Given the description of an element on the screen output the (x, y) to click on. 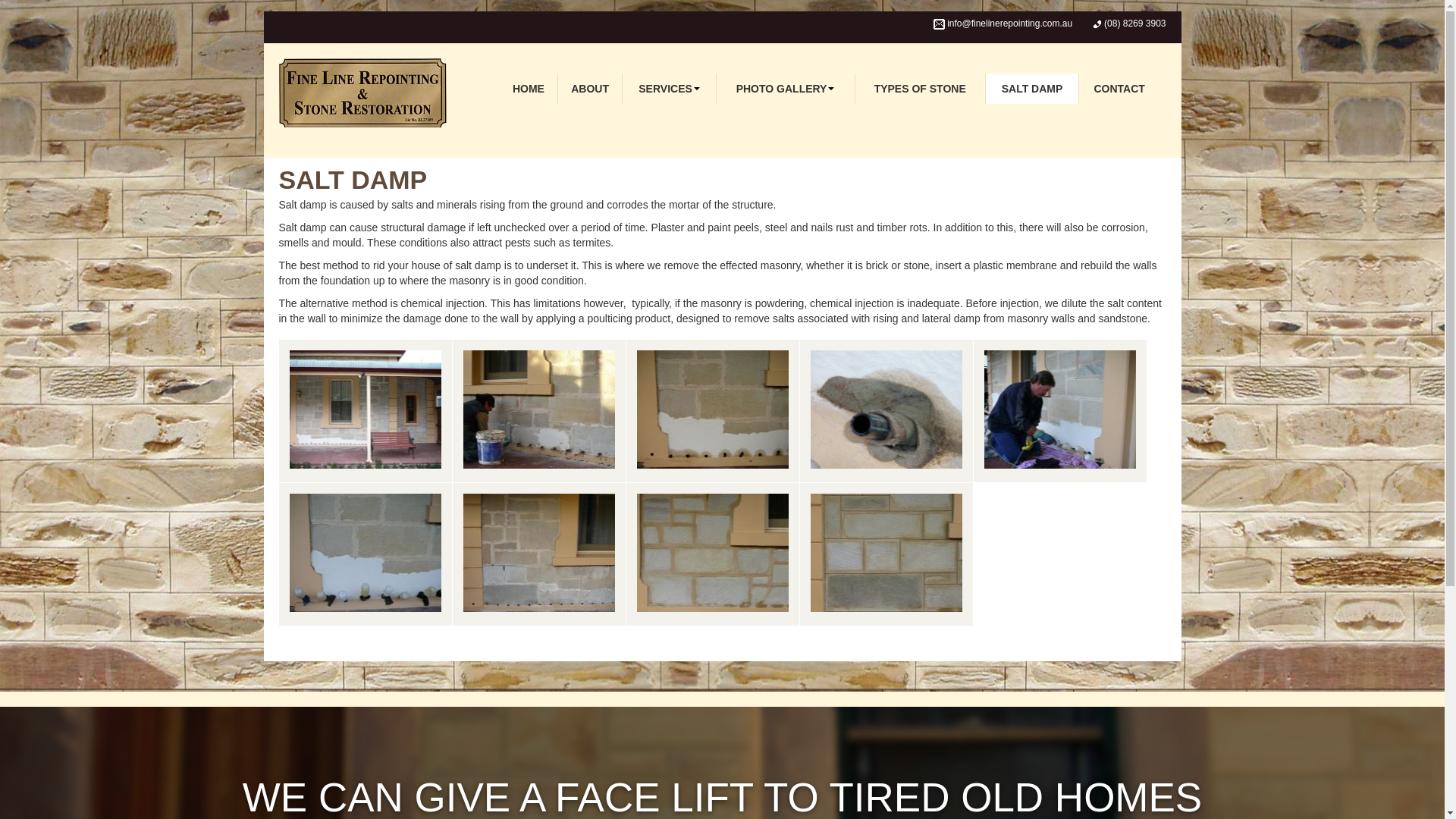

 Element type: hover (365, 410)

 Element type: hover (885, 410)
Click to enlarge image 5.jpg Element type: hover (365, 554)
info@finelinerepointing.com.au Element type: text (1009, 23)

 Element type: hover (712, 410)

 Element type: hover (365, 554)
HOME Element type: text (528, 88)
PHOTO GALLERY Element type: text (785, 88)
ABOUT Element type: text (590, 88)
Click to enlarge image 8.JPG Element type: hover (885, 554)
Click to enlarge image 2.jpg Element type: hover (712, 410)

 Element type: hover (537, 410)

 Element type: hover (712, 554)
Click to enlarge image 1.jpg Element type: hover (365, 410)

 Element type: hover (1059, 410)
TYPES OF STONE Element type: text (920, 88)
Click to enlarge image 7.jpg Element type: hover (712, 554)
Click to enlarge image 3.jpg Element type: hover (885, 410)
Click to enlarge image 4.jpg Element type: hover (1059, 410)
SALT DAMP Element type: text (1032, 88)

 Element type: hover (885, 554)
Click to enlarge image 1a.jpg Element type: hover (538, 410)
SERVICES Element type: text (668, 88)

 Element type: hover (537, 554)
Click to enlarge image 6.jpg Element type: hover (538, 554)
CONTACT Element type: text (1119, 88)
